Given the description of an element on the screen output the (x, y) to click on. 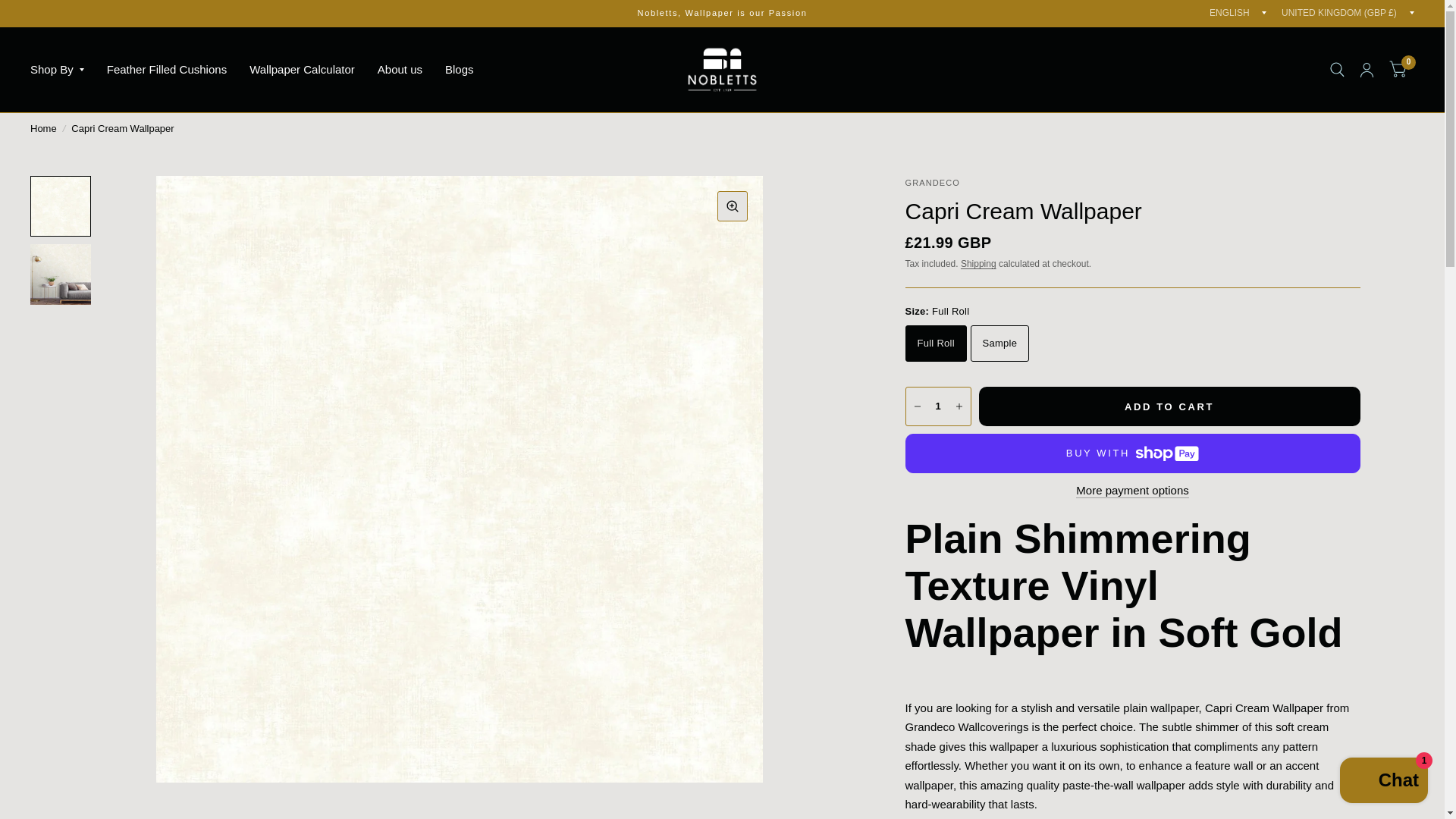
1 (937, 406)
Shop By (57, 69)
